Given the description of an element on the screen output the (x, y) to click on. 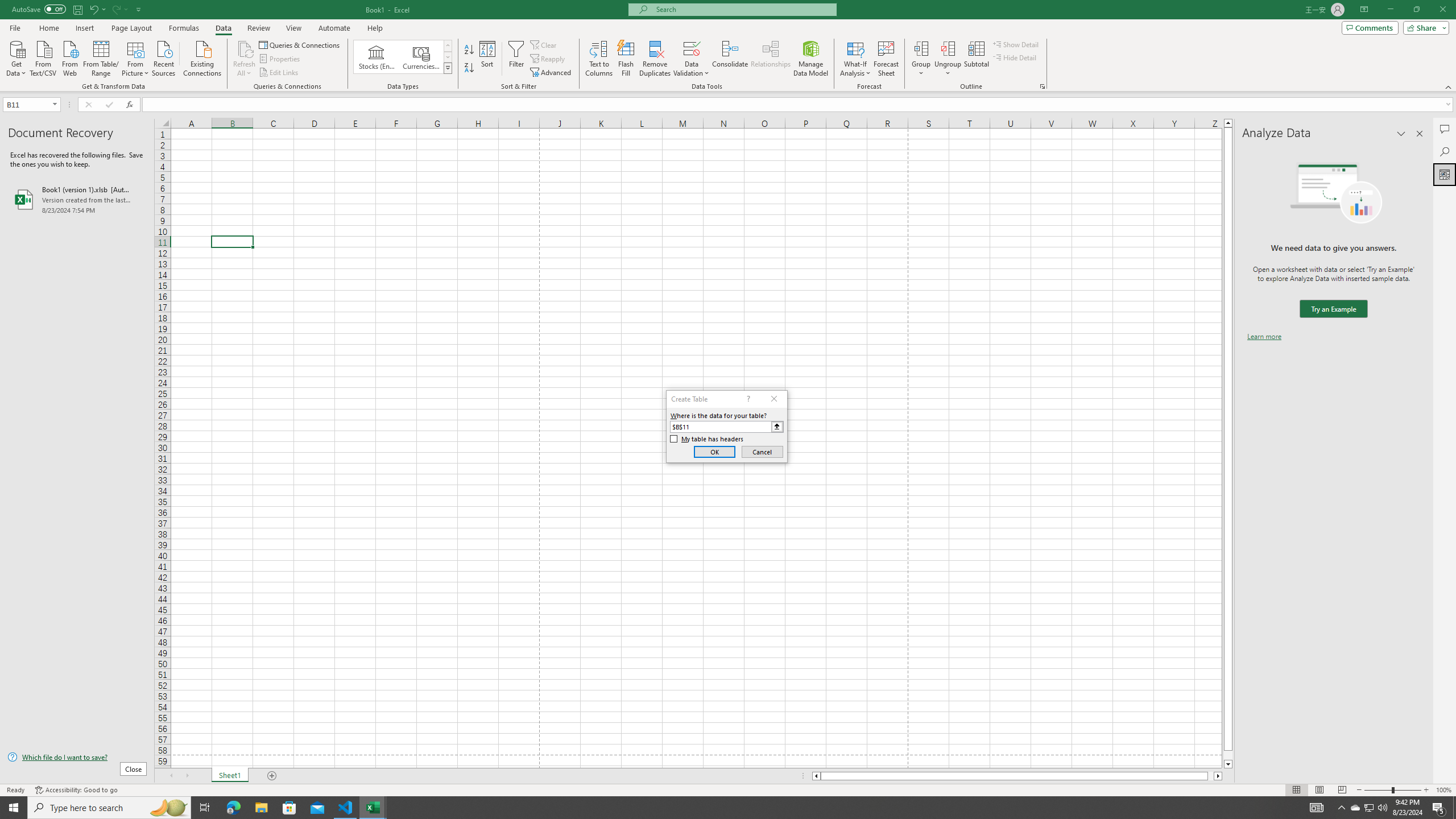
Close pane (1419, 133)
Scroll Left (171, 775)
Add Sheet (272, 775)
Advanced... (551, 72)
Properties (280, 58)
Zoom In (1426, 790)
Data (223, 28)
Clear (544, 44)
From Table/Range (100, 57)
Collapse the Ribbon (1448, 86)
Minimize (1390, 9)
Scroll Right (187, 775)
We need data to give you answers. Try an Example (1333, 308)
Group... (921, 58)
